Given the description of an element on the screen output the (x, y) to click on. 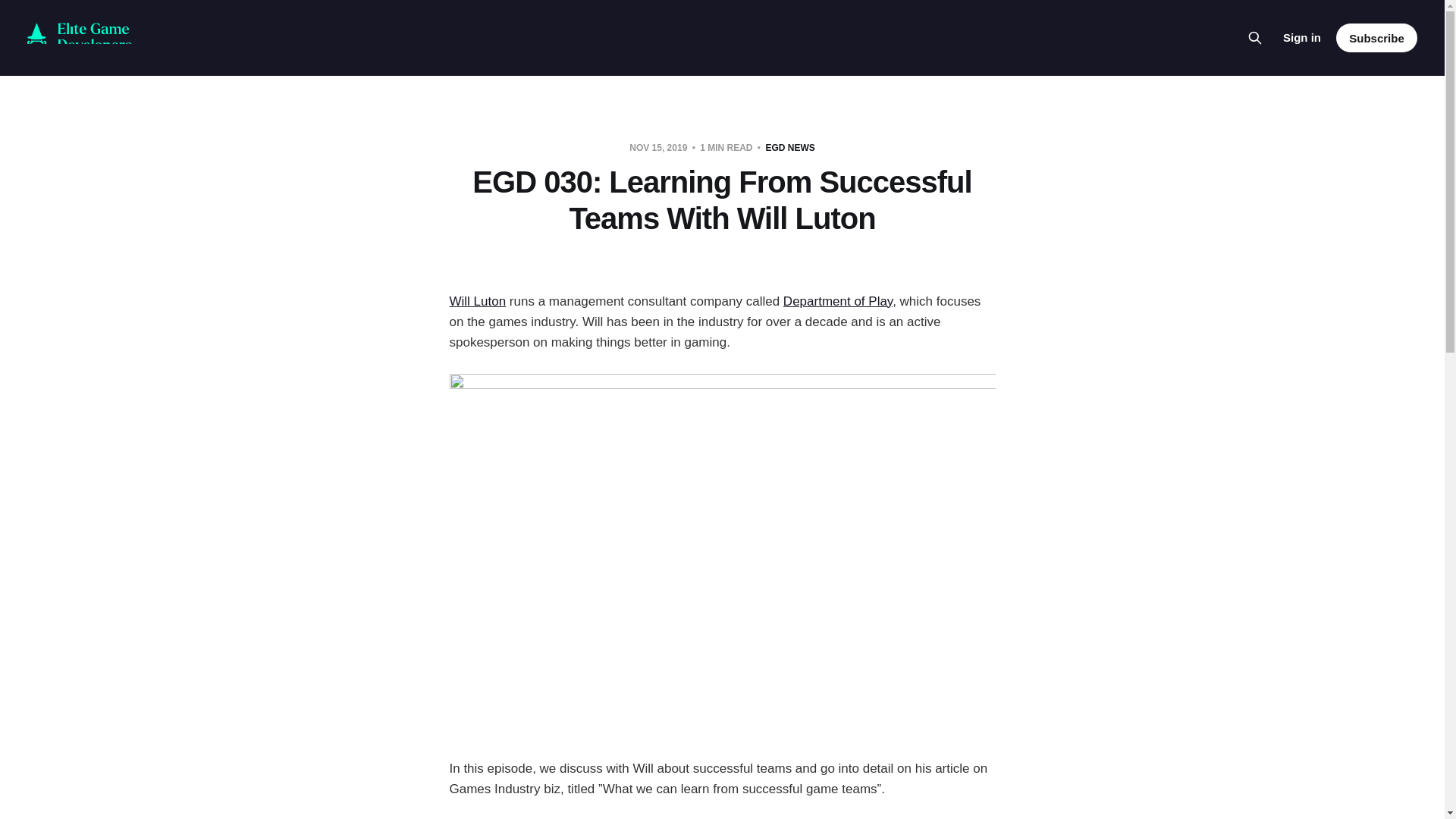
EGD NEWS (789, 147)
Sign in (1301, 37)
Will Luton (476, 301)
Subscribe (1376, 37)
Department of Play (837, 301)
